Given the description of an element on the screen output the (x, y) to click on. 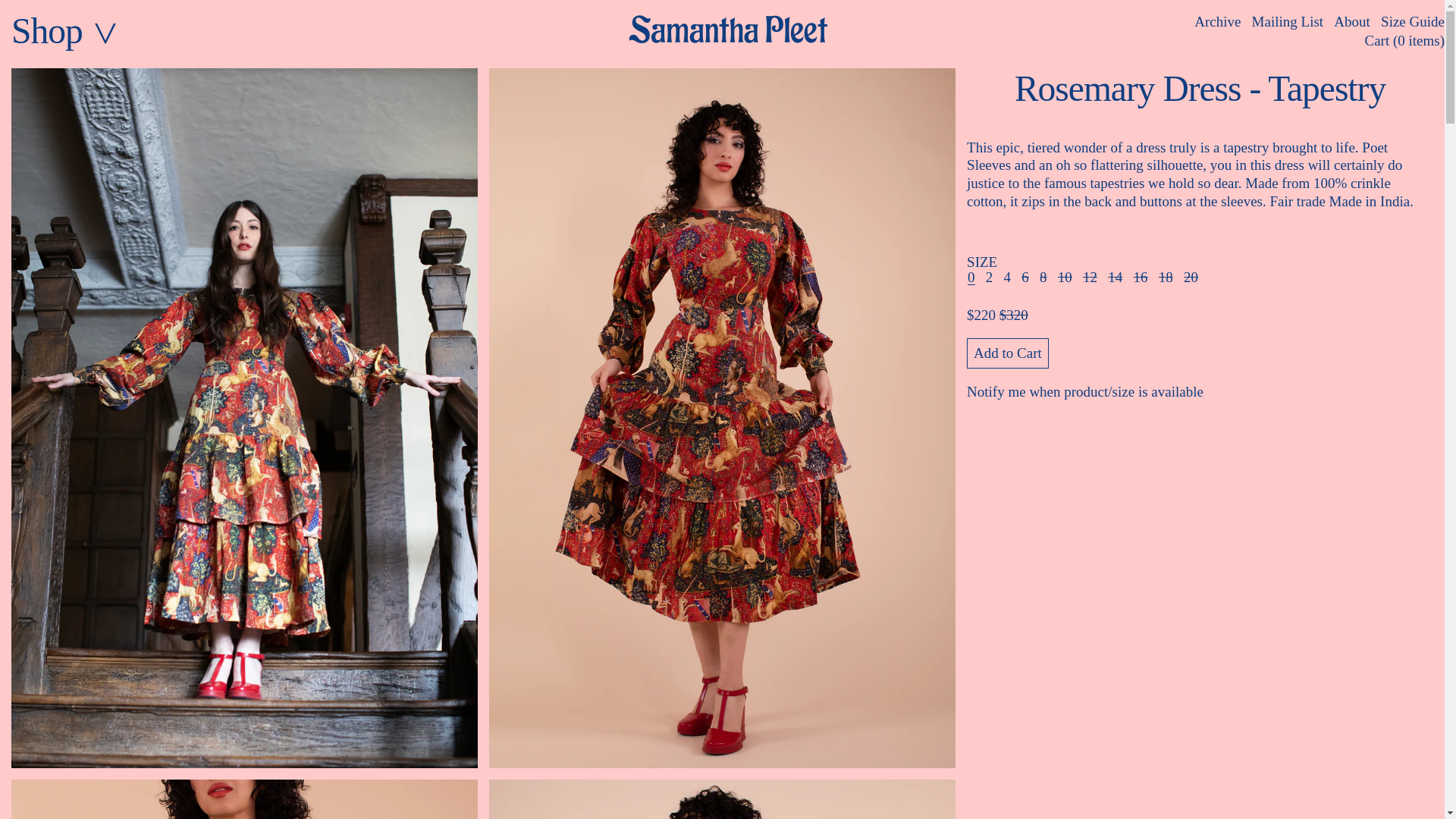
Archive (1216, 21)
About (1351, 21)
Mailing List (1287, 21)
Add to Cart (1007, 353)
